Given the description of an element on the screen output the (x, y) to click on. 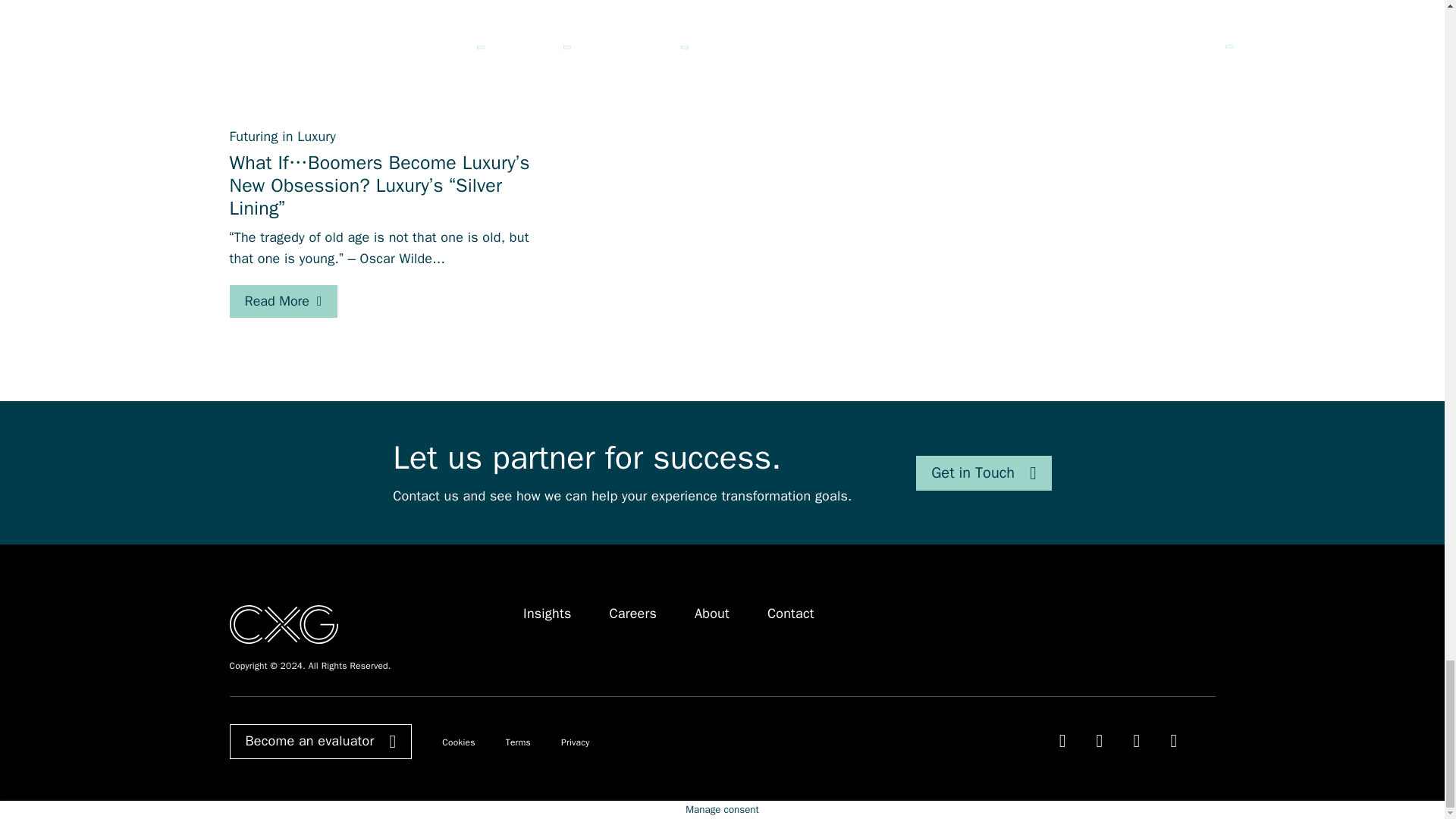
CXG (282, 623)
